Given the description of an element on the screen output the (x, y) to click on. 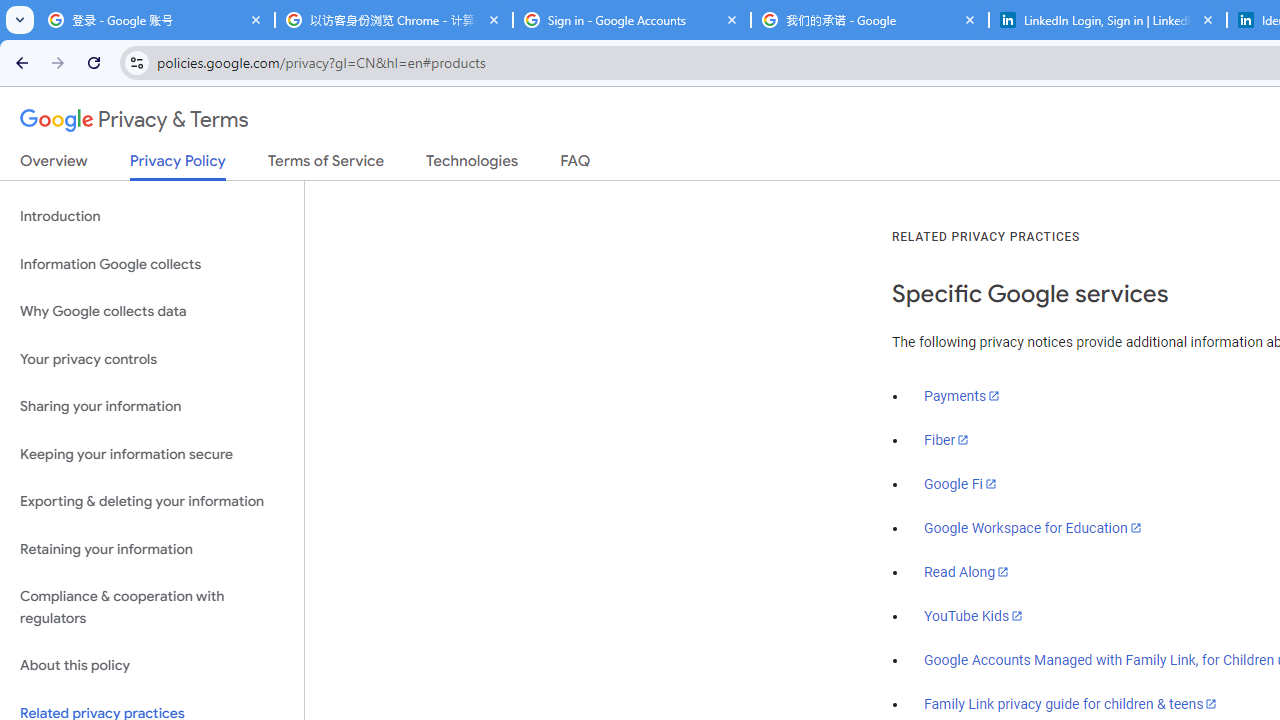
Payments (962, 395)
Fiber (947, 440)
Read Along (966, 572)
